Given the description of an element on the screen output the (x, y) to click on. 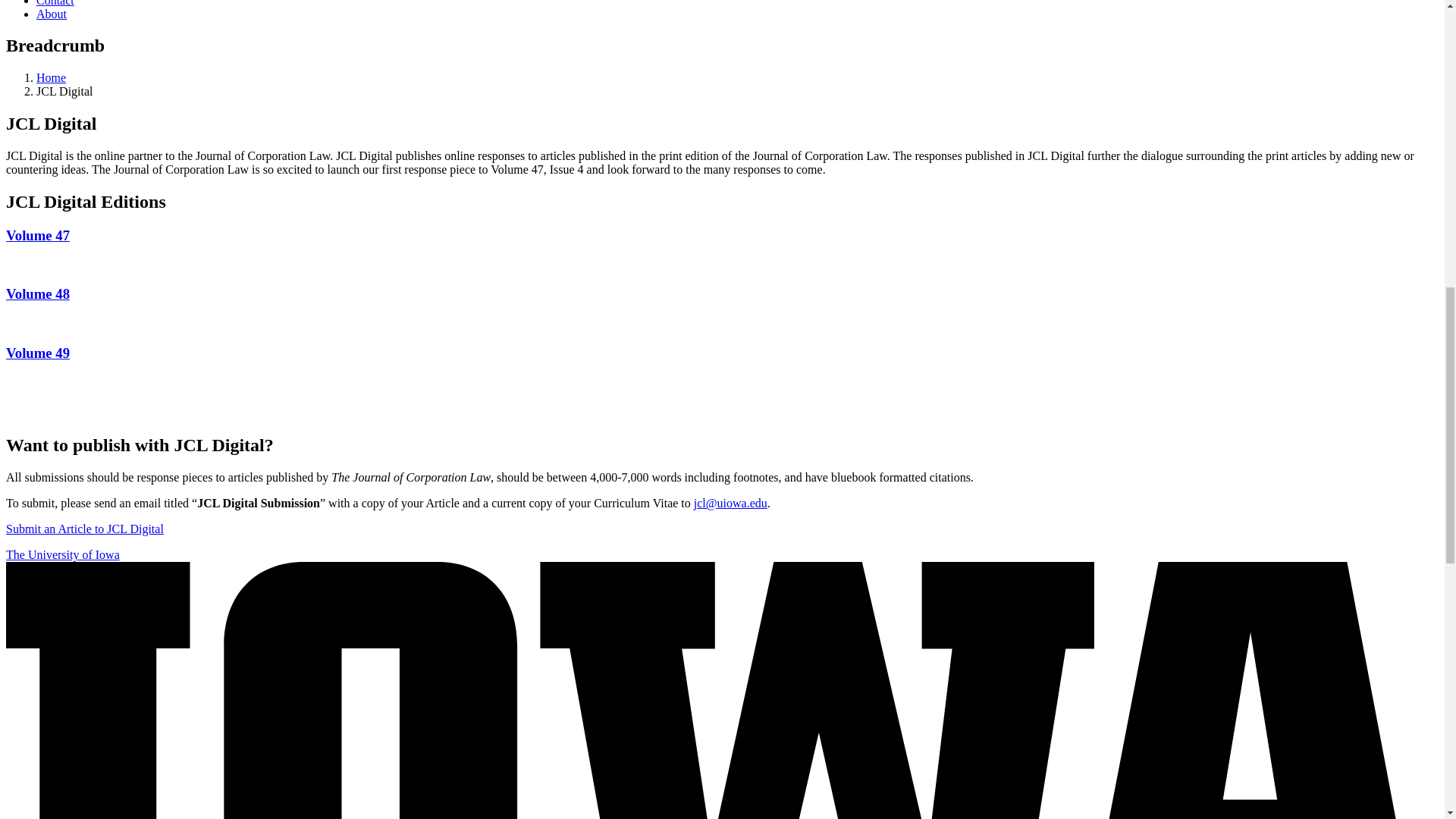
Volume 48 (37, 293)
Submit an Article to JCL Digital (84, 528)
JCL Digital: Volume 47 (37, 235)
Volume 49 (37, 352)
Home (50, 77)
About (51, 13)
Contact (55, 3)
Volume 47 (37, 235)
